Given the description of an element on the screen output the (x, y) to click on. 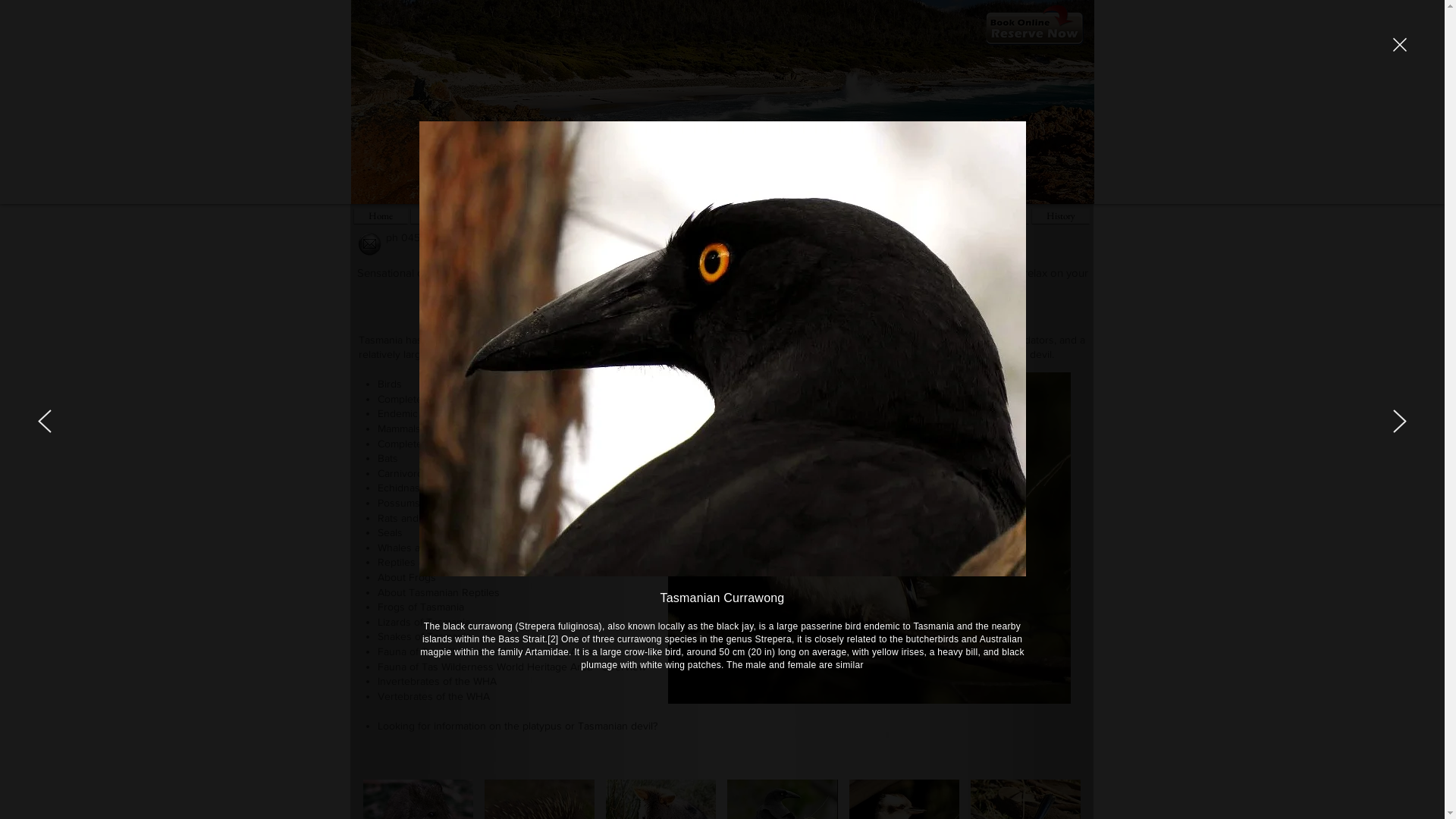
platypus Element type: text (541, 725)
Rats and Mice Element type: text (410, 517)
Possums, Kangaroos and Wombats Element type: text (459, 502)
Find Us Element type: text (770, 214)
Attractions Element type: text (899, 214)
Lizards of Tasmania Element type: text (423, 621)
Accommodation Element type: text (457, 214)
Bay of Fires Element type: text (542, 214)
Complete Listing of Tasmania's Mammals Element type: text (472, 443)
Fauna of Tas Wilderness World Heritage Area - Overview Element type: text (511, 666)
Home Element type: text (380, 214)
Freycinet Element type: text (614, 214)
Rainbow-Flag extra small.png Element type: hover (1014, 239)
Bats Element type: text (387, 457)
Birds Element type: text (389, 383)
Douglas Apsley Element type: text (693, 214)
Whales and Dolphins Element type: text (426, 547)
Tasmanian devil Element type: text (614, 725)
About Frogs Element type: text (406, 577)
Fauna of Tas Wilderness World Heritage Area Element type: text (484, 651)
About Tasmanian Reptiles Element type: text (438, 592)
Frogs of Tasmania Element type: text (420, 606)
Seals Element type: text (389, 532)
St Patricks Head Element type: text (983, 214)
Reptiles and Frogs Element type: text (421, 561)
Endemic Birds Element type: text (411, 413)
History Element type: text (1059, 214)
Vertebrates of the WHA Element type: text (433, 696)
Snakes of Tasmania Element type: text (423, 636)
Complete List of Tasmanian Birds Element type: text (455, 398)
Echidnas and Platypus Element type: text (430, 487)
Carnivorous Marsupials and Bandicoots Element type: text (470, 473)
Invertebrates of the WHA Element type: text (436, 680)
Wildlife Element type: text (831, 214)
Mammals Element type: text (398, 428)
